Given the description of an element on the screen output the (x, y) to click on. 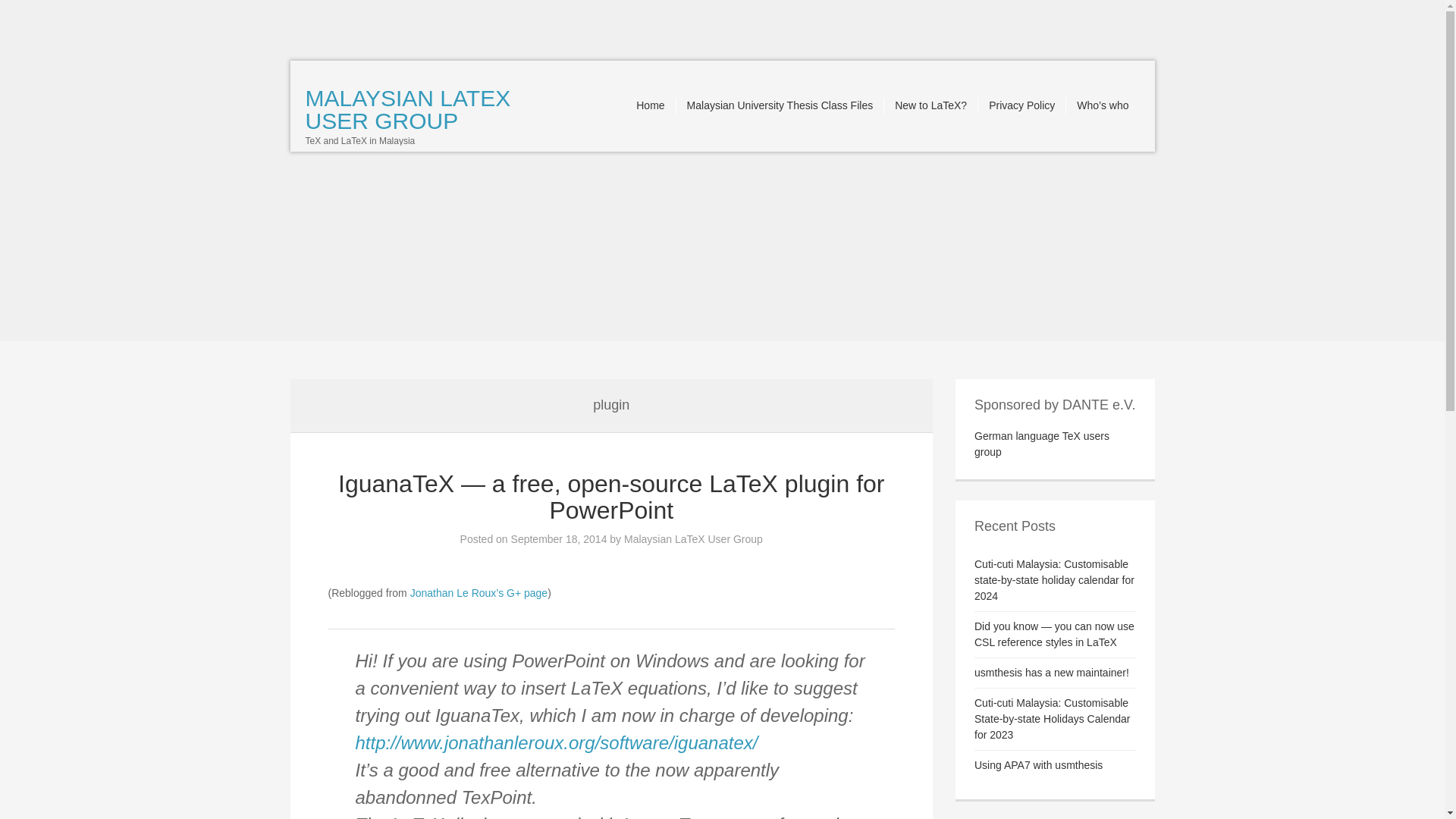
Malaysian LaTeX User Group (407, 109)
usmthesis has a new maintainer! (1051, 672)
Using APA7 with usmthesis (1038, 765)
New to LaTeX? (930, 105)
Malaysian LaTeX User Group (693, 539)
Home (650, 105)
September 18, 2014 (559, 539)
Privacy Policy (1021, 105)
